Given the description of an element on the screen output the (x, y) to click on. 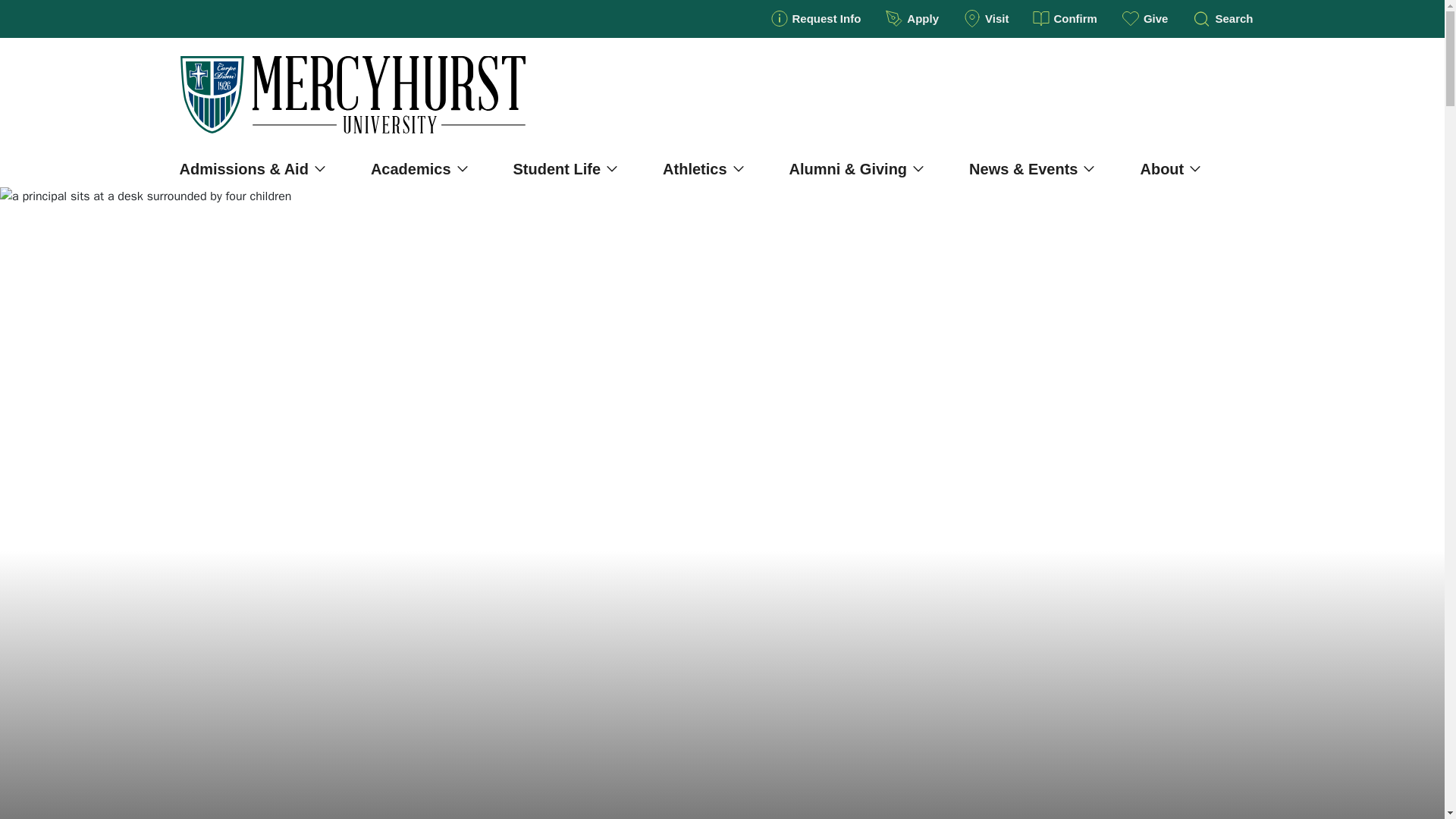
Academics (419, 169)
Visit (985, 18)
Request Info (815, 18)
Apply (911, 18)
Search (1222, 18)
Search (1244, 94)
Confirm (1064, 18)
Give (1144, 18)
